Given the description of an element on the screen output the (x, y) to click on. 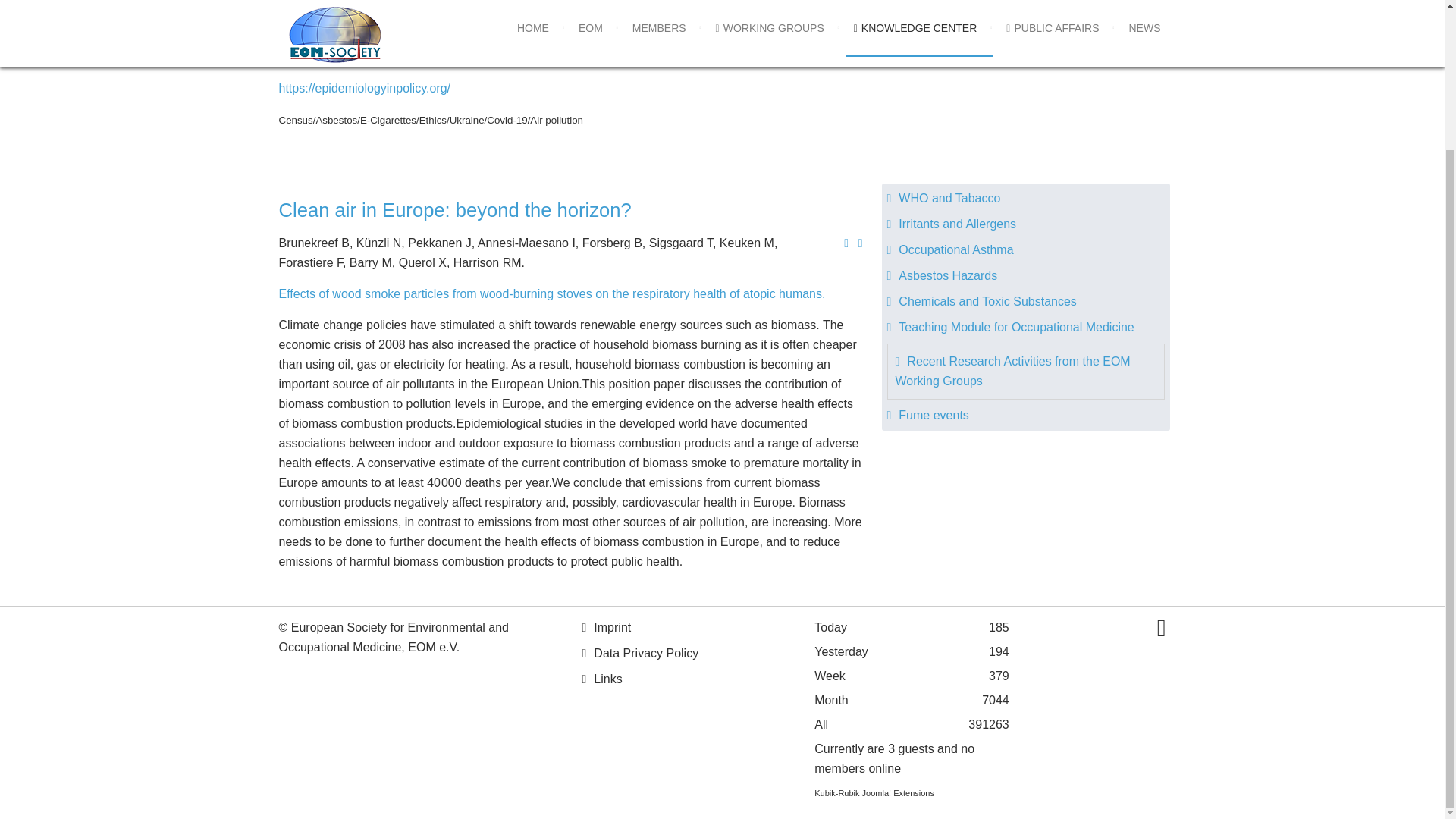
open Website (552, 293)
open Website (416, 1)
open Website (365, 88)
